Given the description of an element on the screen output the (x, y) to click on. 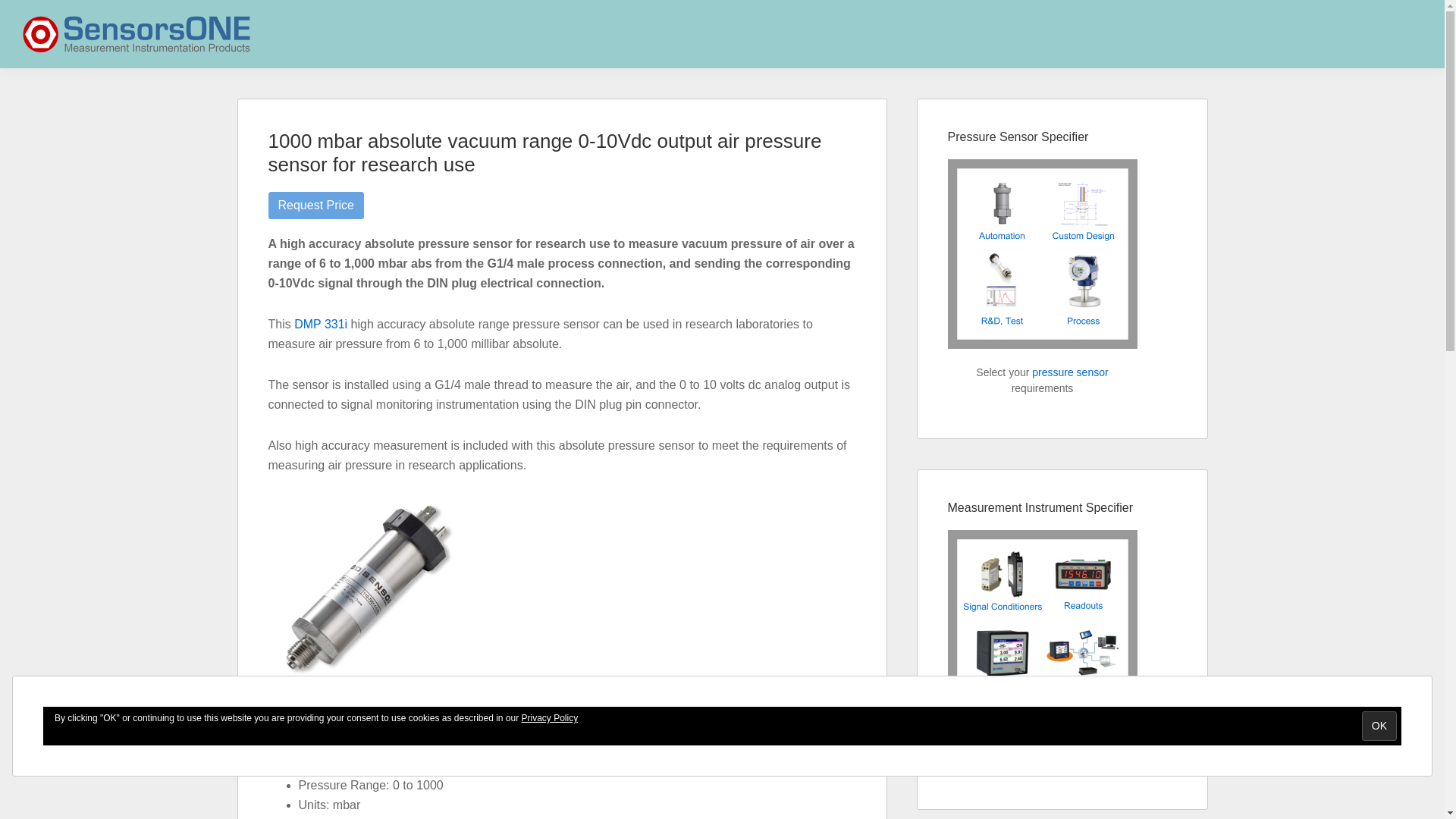
Privacy Policy (549, 717)
OK (1378, 726)
OK (1378, 726)
Pressure Sensor Specifier (1042, 253)
Measurement Instrument Specifier (1042, 624)
DMP 331i (320, 323)
pressure sensor (1070, 372)
measurement instrument (1070, 743)
Request Price (316, 205)
